Given the description of an element on the screen output the (x, y) to click on. 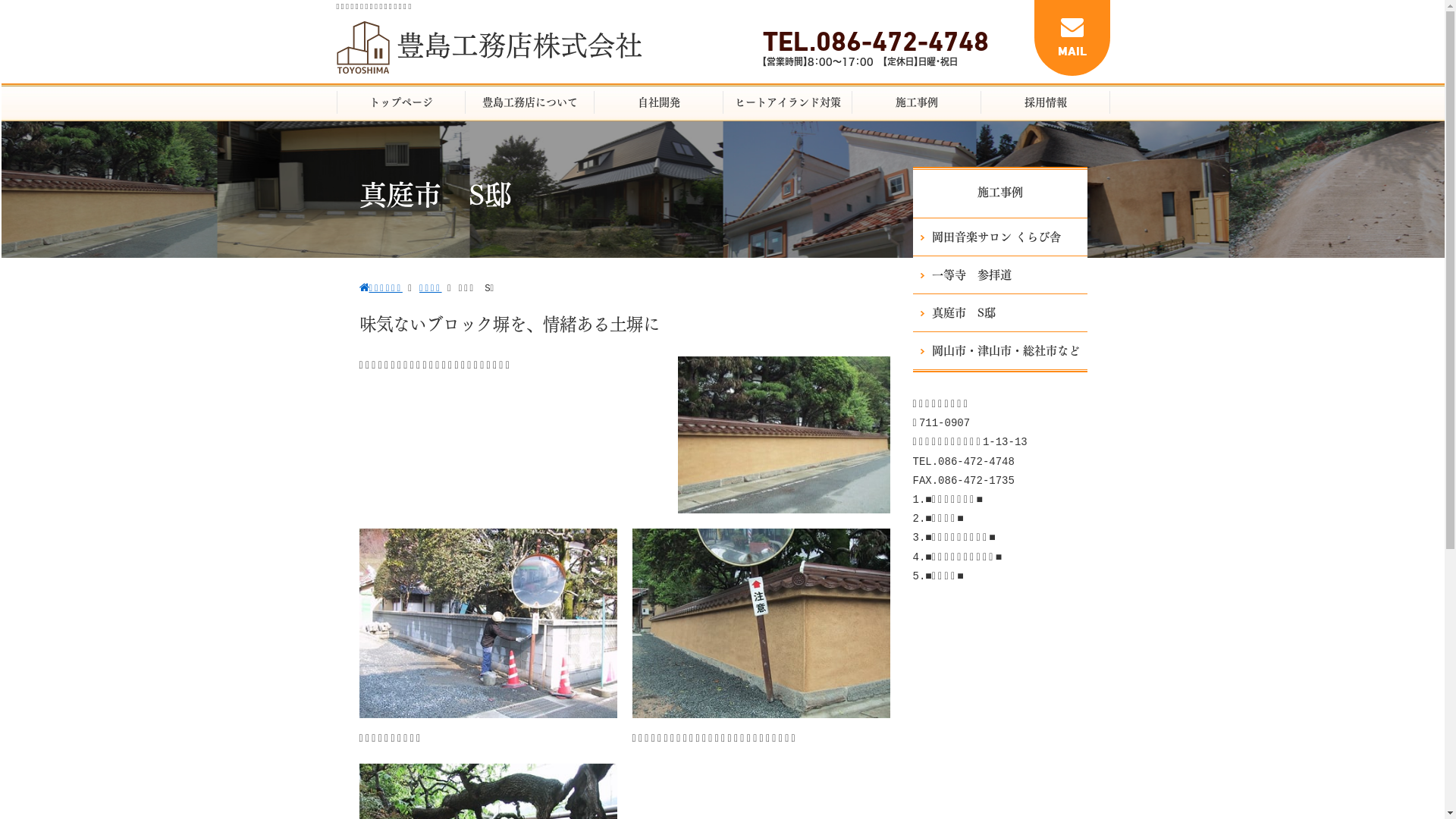
MAIL Element type: hover (1072, 37)
